Given the description of an element on the screen output the (x, y) to click on. 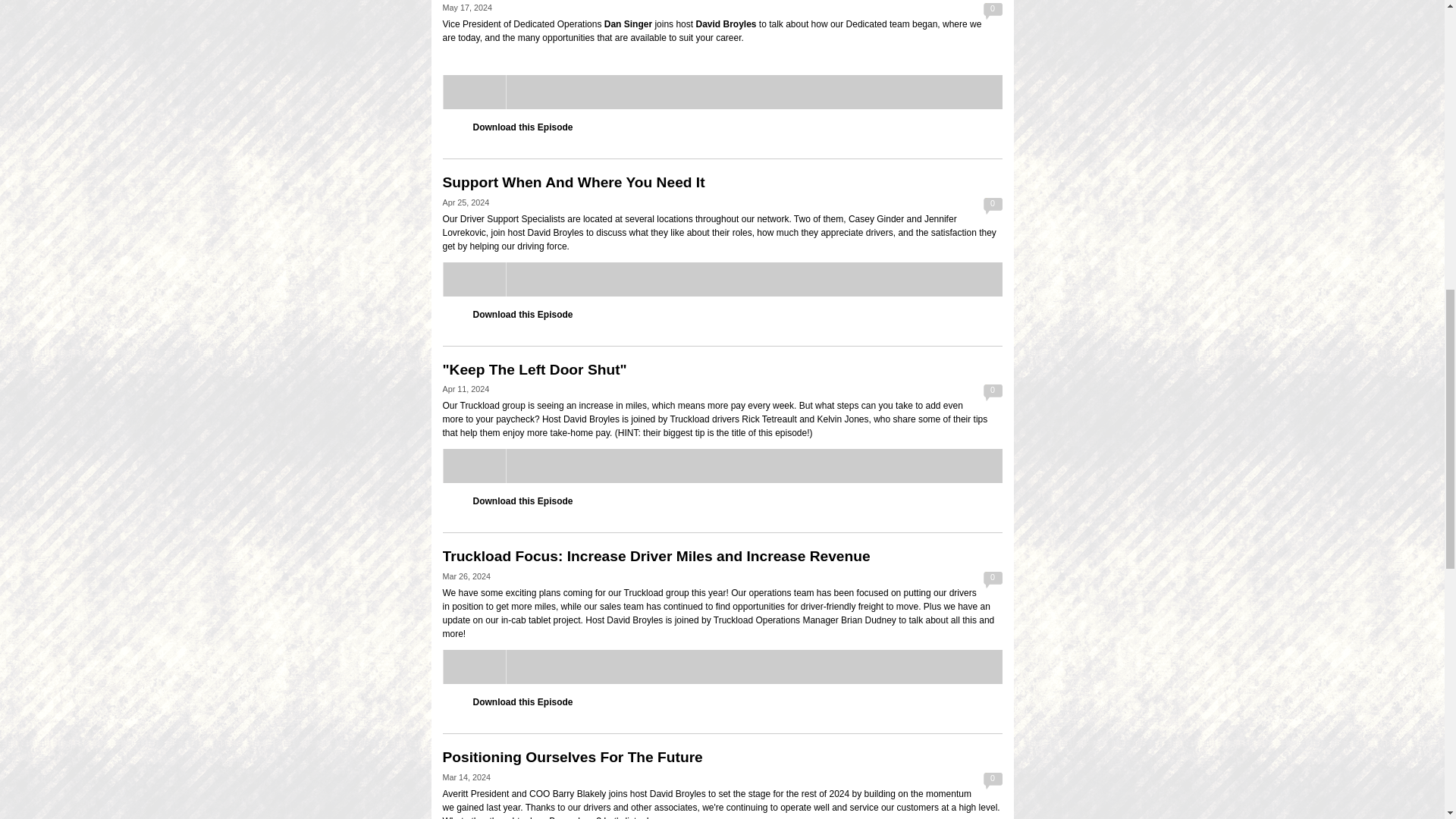
Libsyn Player (722, 666)
Libsyn Player (722, 465)
Libsyn Player (722, 279)
Libsyn Player (722, 91)
